Given the description of an element on the screen output the (x, y) to click on. 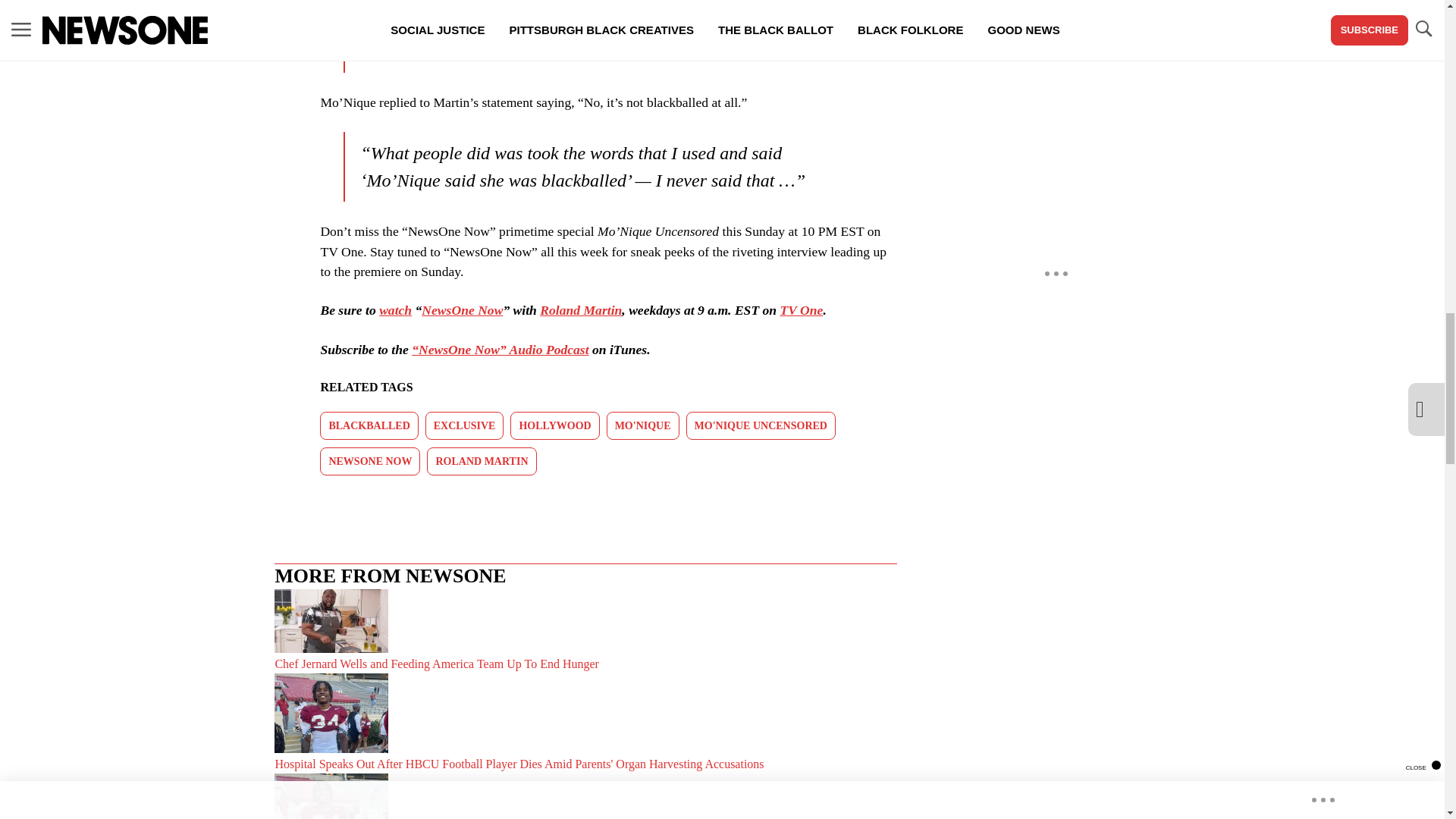
HOLLYWOOD (554, 425)
NewsOne Now (462, 309)
watch (395, 309)
ROLAND MARTIN (480, 461)
Roland Martin (580, 309)
EXCLUSIVE (464, 425)
MO'NIQUE (643, 425)
NEWSONE NOW (370, 461)
MO'NIQUE UNCENSORED (760, 425)
BLACKBALLED (368, 425)
